Given the description of an element on the screen output the (x, y) to click on. 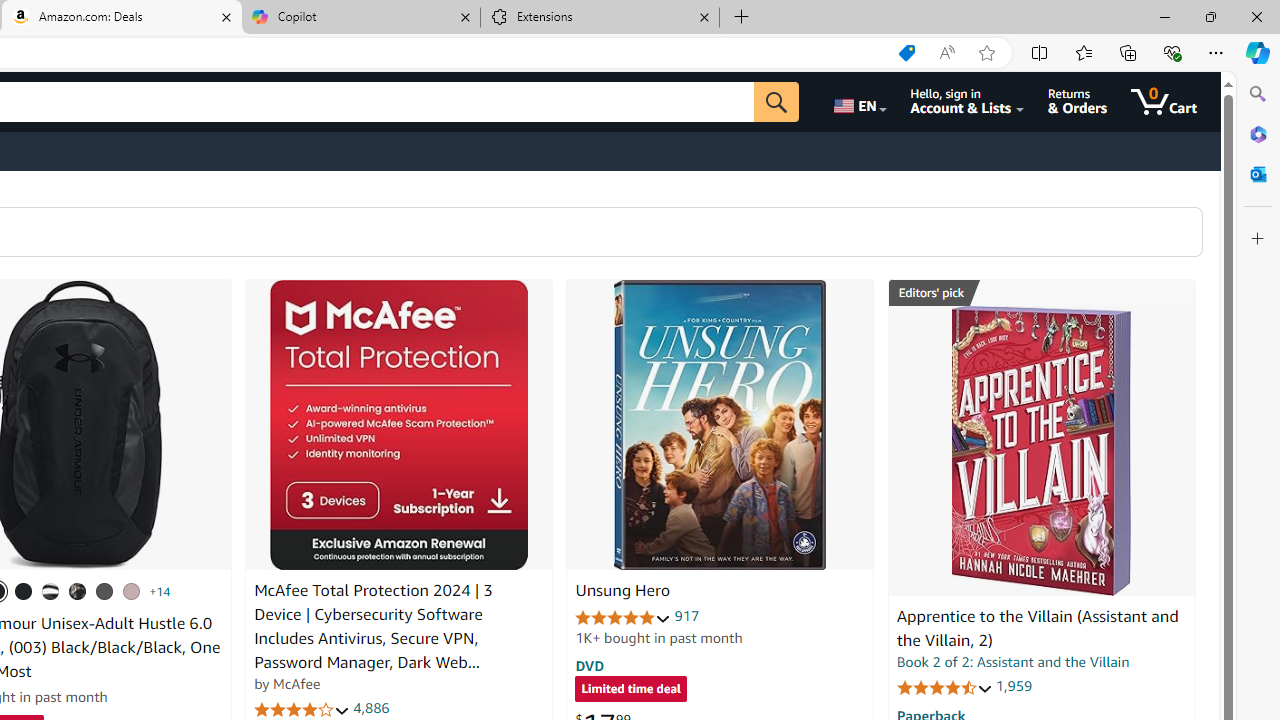
Hello, sign in Account & Lists (967, 101)
Browser essentials (1171, 52)
Read aloud this page (Ctrl+Shift+U) (946, 53)
Copilot (360, 17)
Customize (1258, 239)
Go (776, 101)
4.9 out of 5 stars (623, 616)
(015) Tetra Gray / Tetra Gray / Gray Matter (131, 591)
Microsoft 365 (1258, 133)
Unsung Hero (622, 591)
New Tab (742, 17)
Minimize (1164, 16)
(004) Black / Black / Metallic Gold (78, 591)
+14 (159, 591)
0 items in cart (1163, 101)
